Given the description of an element on the screen output the (x, y) to click on. 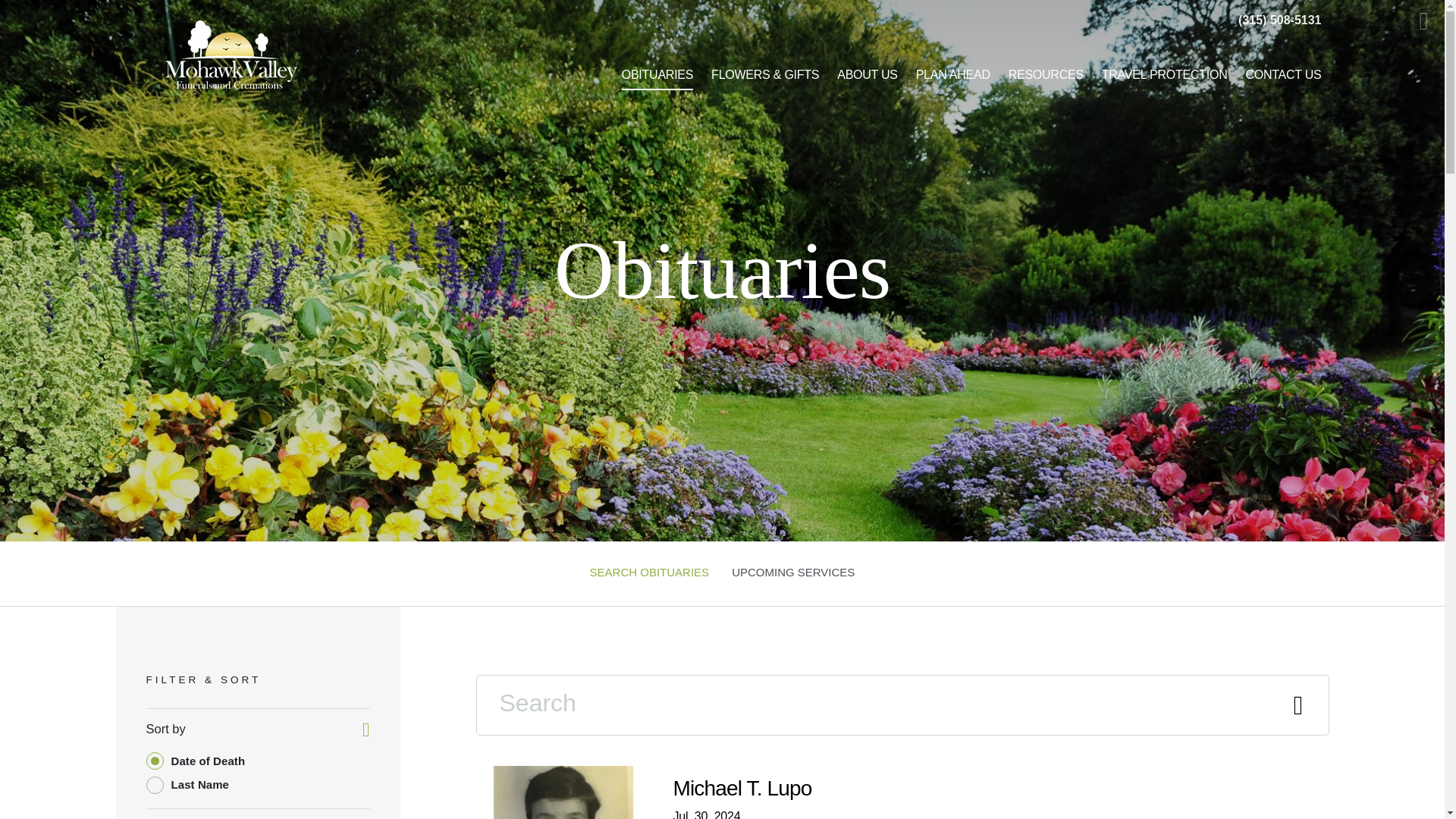
OBITUARIES (793, 573)
PLAN AHEAD (649, 573)
ABOUT US (657, 74)
RESOURCES (952, 74)
Skip to content (867, 74)
TRAVEL PROTECTION (1045, 74)
CONTACT US (32, 15)
